Given the description of an element on the screen output the (x, y) to click on. 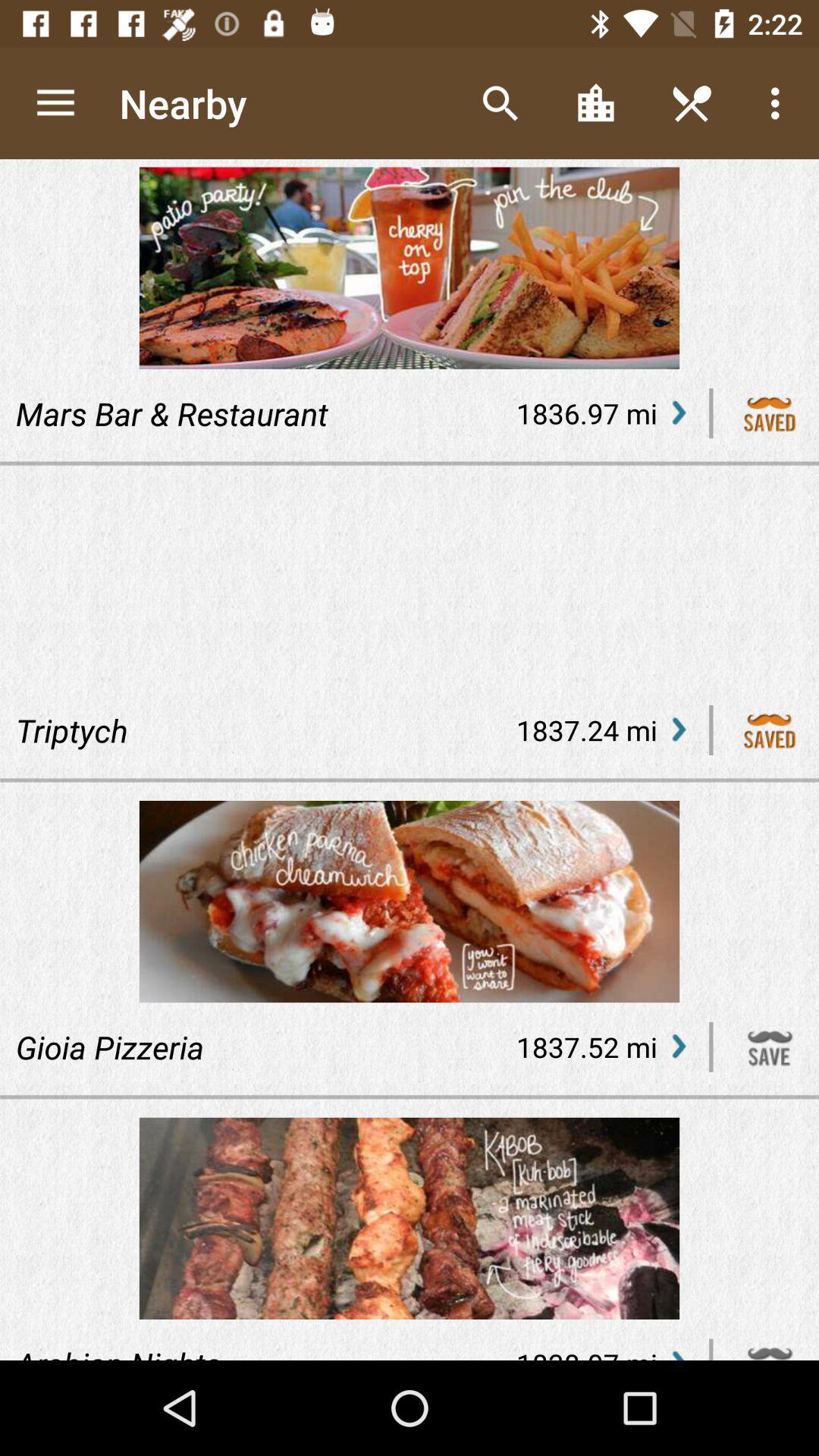
save the website (770, 1046)
